Given the description of an element on the screen output the (x, y) to click on. 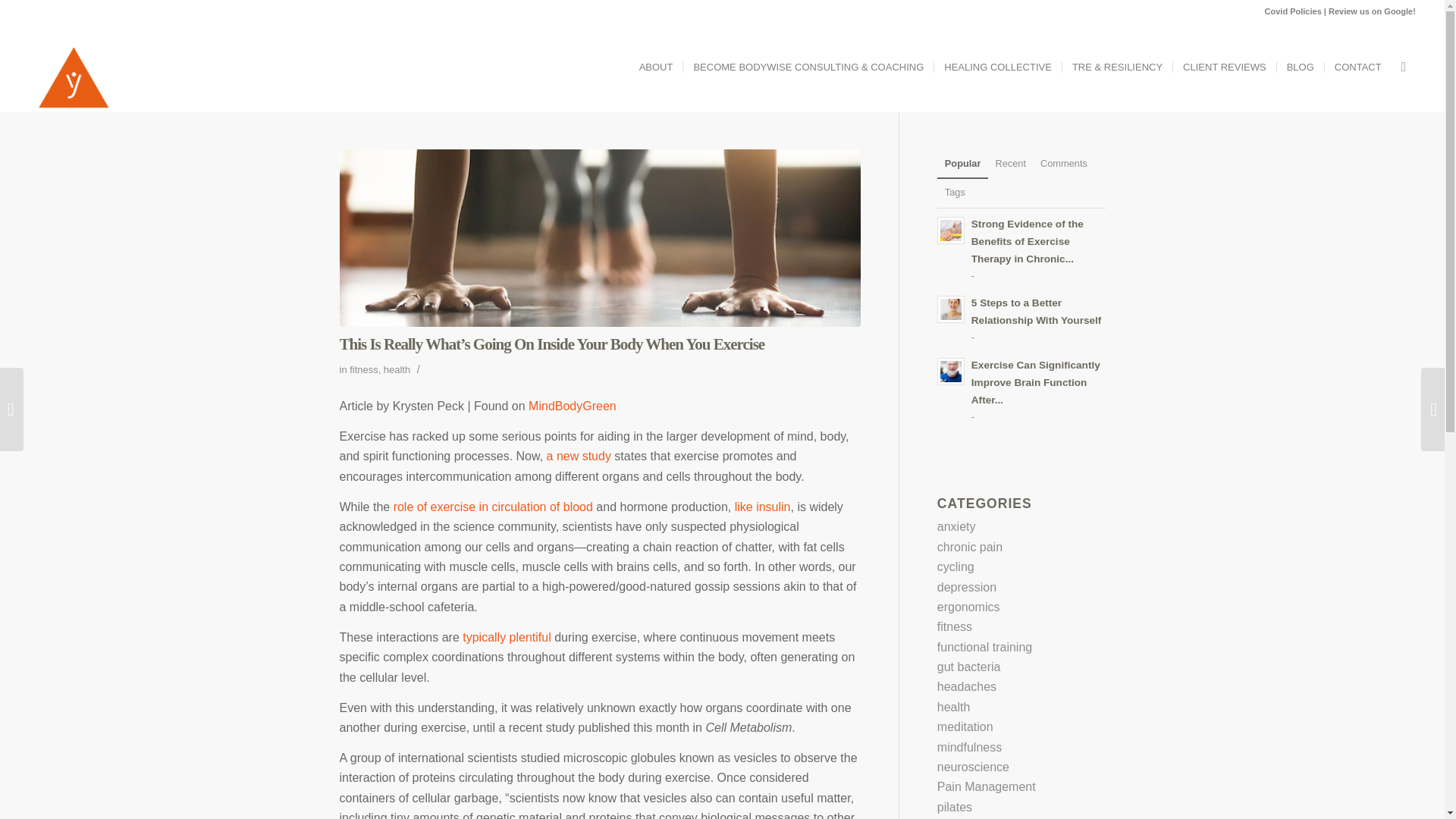
role of exercise in circulation of blood (492, 506)
MindBodyGreen (571, 405)
fitness (363, 369)
Review us on Google! (1371, 10)
Covid Policies (1293, 10)
typically plentiful (1021, 319)
HEALING COLLECTIVE (507, 636)
health (997, 67)
CLIENT REVIEWS (397, 369)
a new study (1224, 67)
like insulin (1021, 389)
